Given the description of an element on the screen output the (x, y) to click on. 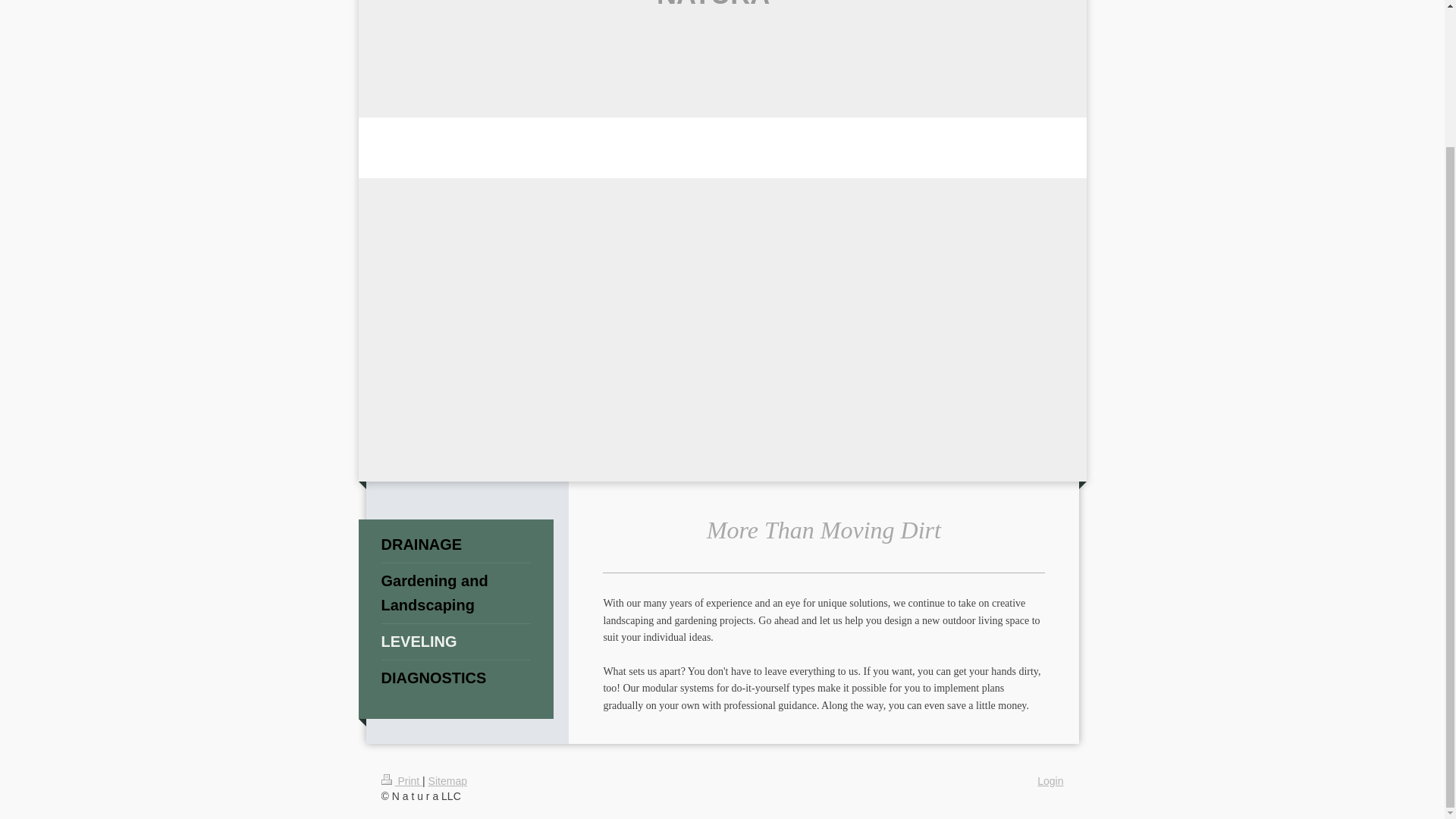
Gardening and Landscaping (455, 593)
DRAINAGE (455, 544)
DIAGNOSTICS (455, 678)
LEVELING (455, 641)
Print (401, 780)
Sitemap (447, 780)
Login (1049, 780)
NATURA (713, 5)
